Given the description of an element on the screen output the (x, y) to click on. 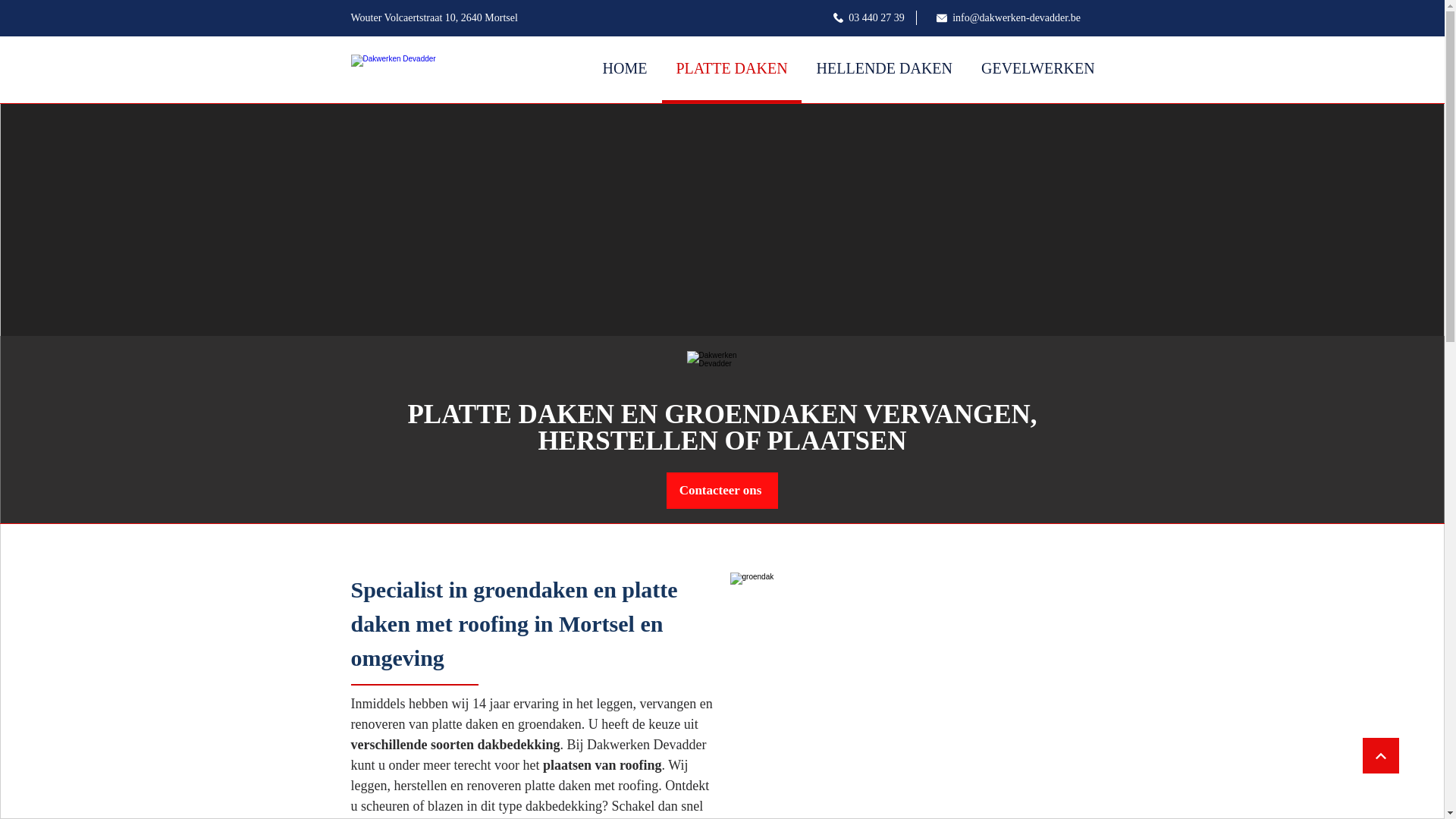
info@dakwerken-devadder.be Element type: text (1008, 17)
CONTACT Element type: text (1159, 69)
HOME Element type: text (624, 69)
Contacteer ons Element type: text (721, 490)
GEVELWERKEN Element type: text (1037, 69)
PLATTE DAKEN Element type: text (731, 69)
03 440 27 39 Element type: text (869, 17)
HELLENDE DAKEN Element type: text (884, 69)
